Given the description of an element on the screen output the (x, y) to click on. 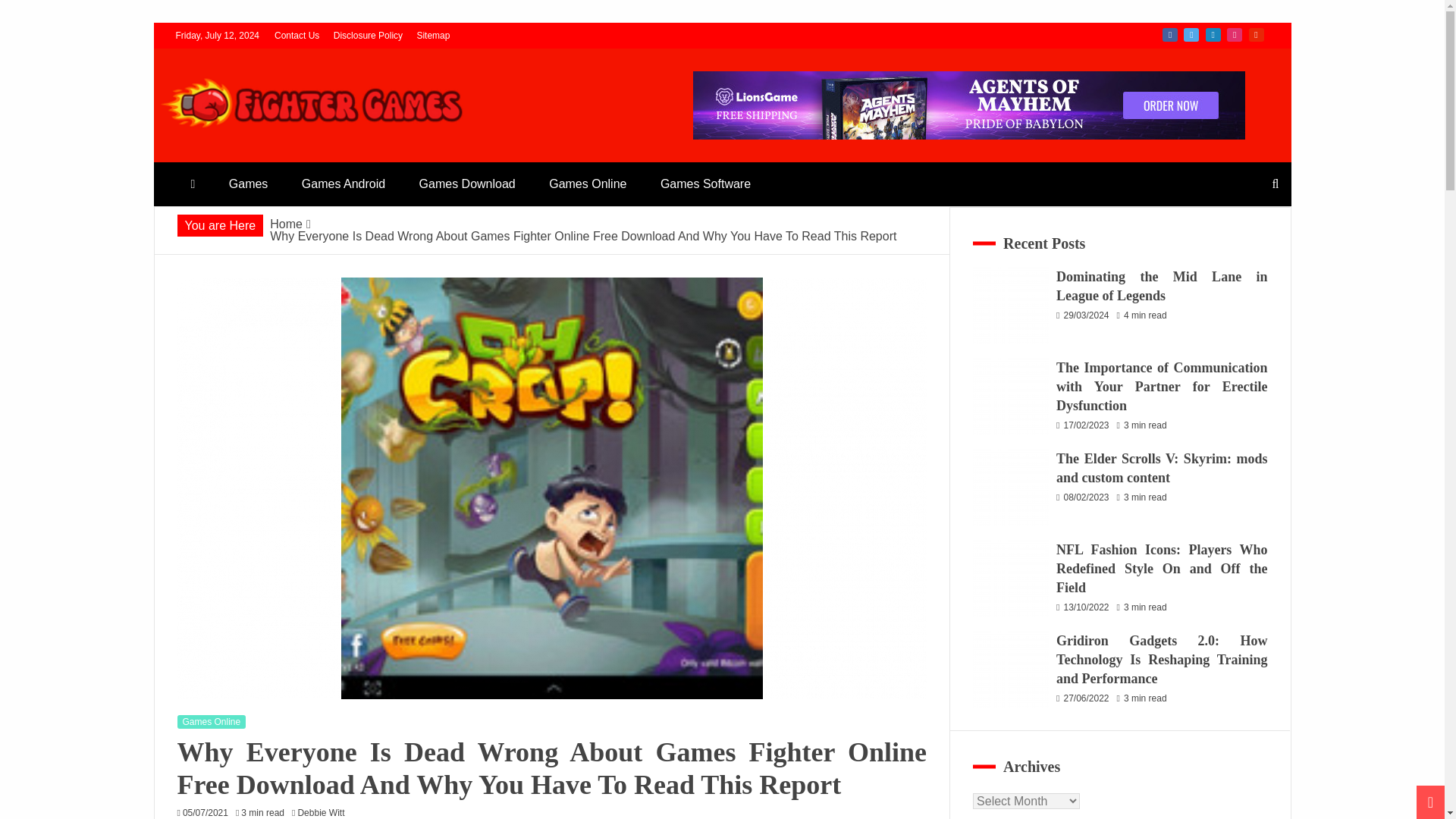
Games Online (211, 721)
Contact Us (296, 35)
LinkedIn (1213, 34)
Facebook (1169, 34)
The Elder Scrolls V: Skyrim: mods and custom content (1010, 487)
Youtube (1255, 34)
Fighter Games (262, 155)
Search (31, 13)
Games Software (705, 183)
Disclosure Policy (368, 35)
Games Android (343, 183)
